Given the description of an element on the screen output the (x, y) to click on. 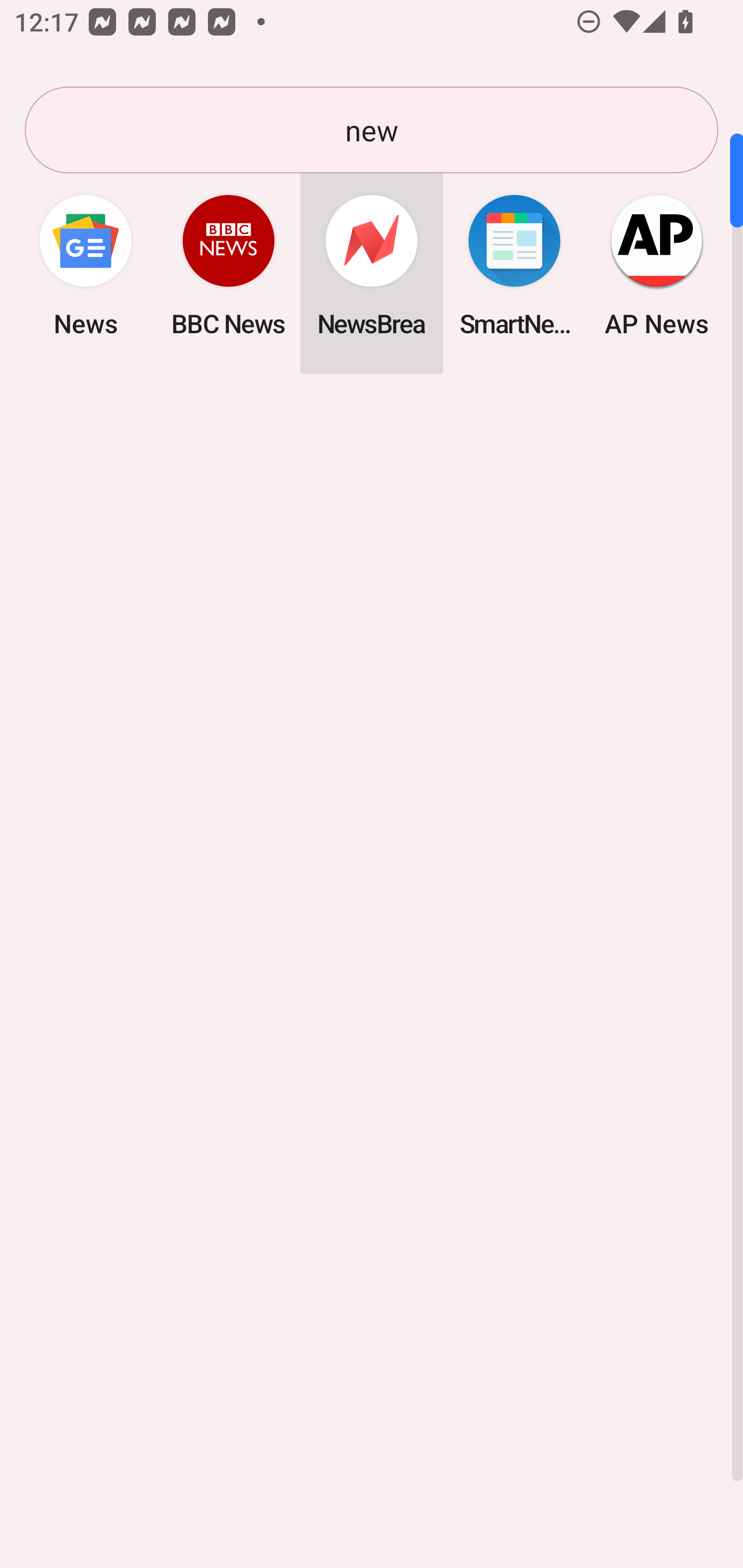
new (371, 130)
News (85, 264)
BBC News (228, 264)
NewsBreak (371, 264)
SmartNews (514, 264)
AP News (656, 264)
